Given the description of an element on the screen output the (x, y) to click on. 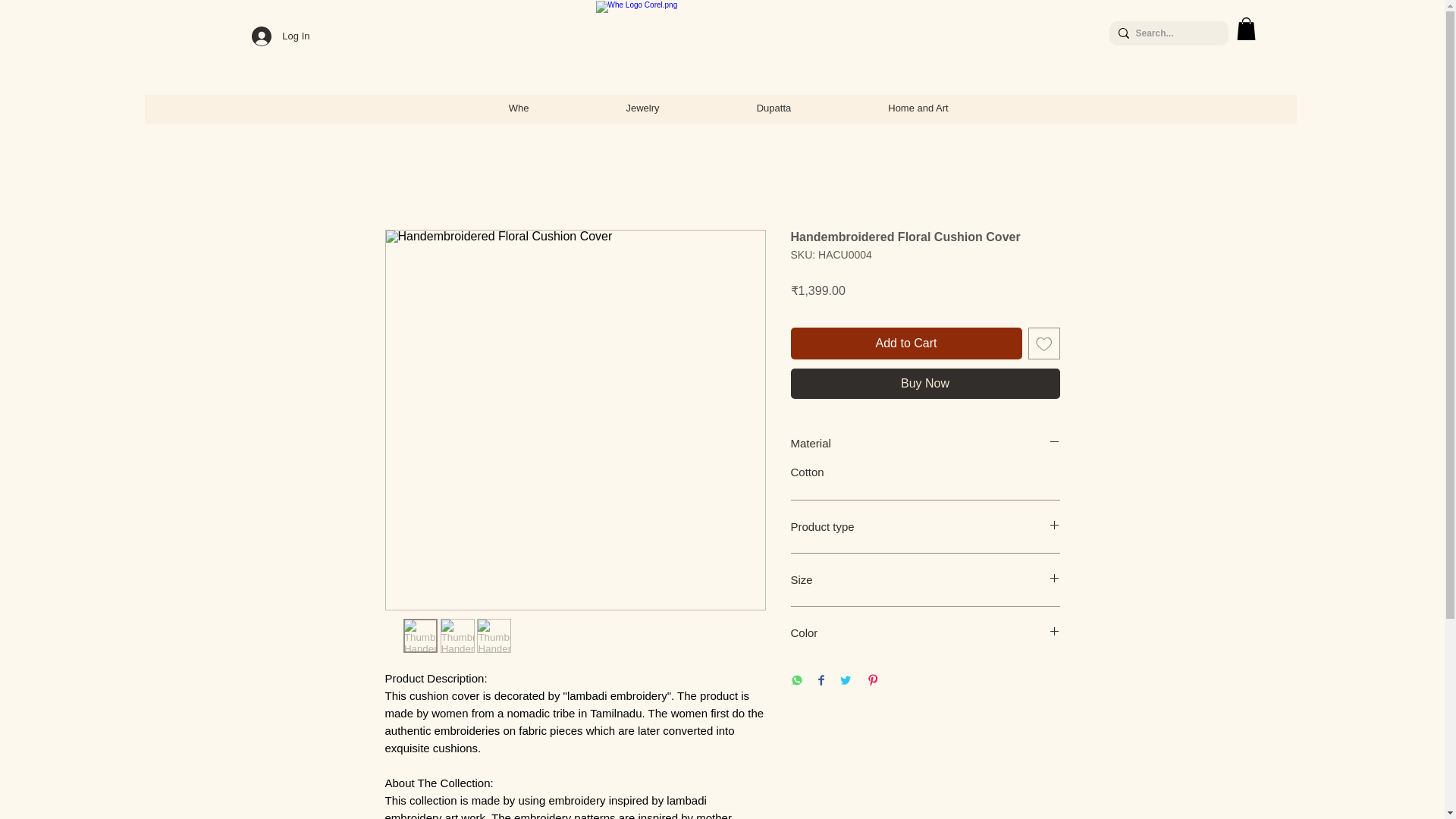
Whe (518, 108)
Add to Cart (906, 343)
Home and Art (918, 108)
Log In (280, 36)
Color (924, 632)
Jewelry (642, 108)
Buy Now (924, 383)
Size (924, 579)
Product type (924, 526)
Material (924, 442)
Dupatta (773, 108)
